Given the description of an element on the screen output the (x, y) to click on. 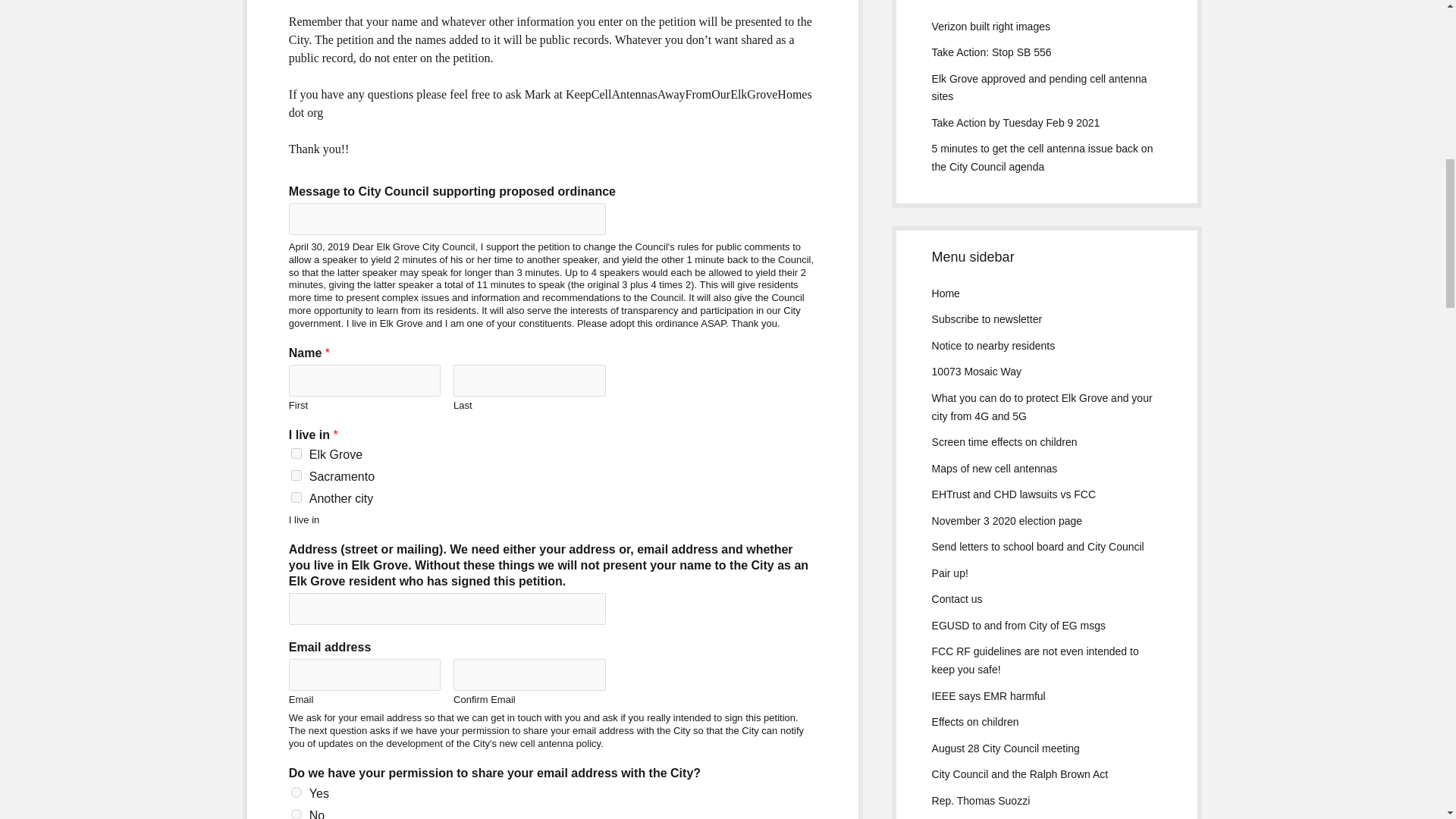
Elk Grove (296, 452)
Yes (296, 792)
Another city (296, 497)
Sacramento (296, 475)
No (296, 814)
